Given the description of an element on the screen output the (x, y) to click on. 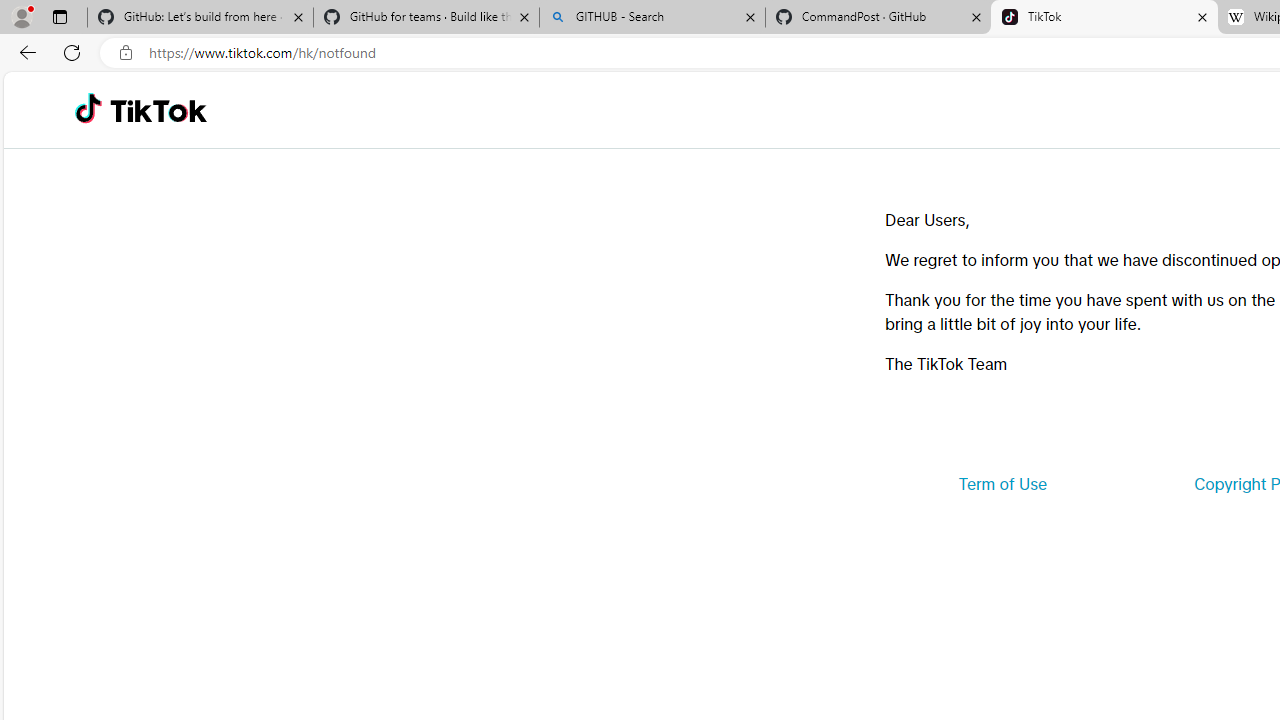
TikTok (158, 110)
Term of Use (1002, 484)
TikTok (1104, 17)
GITHUB - Search (652, 17)
